Given the description of an element on the screen output the (x, y) to click on. 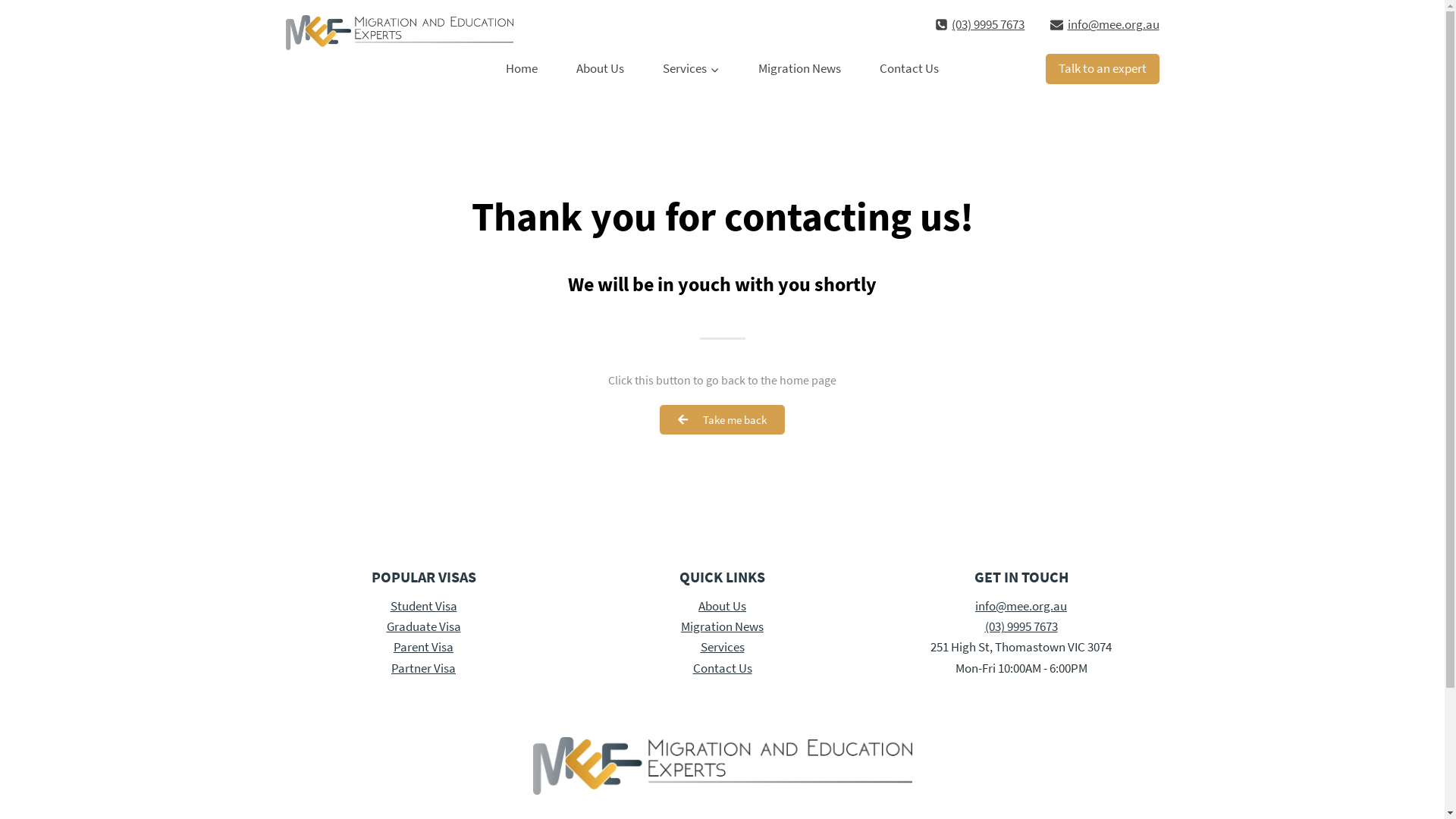
Migration News Element type: text (721, 626)
info@mee.org.au Element type: text (1104, 24)
About Us Element type: text (599, 68)
Migration News Element type: text (798, 68)
(03) 9995 7673 Element type: text (1020, 626)
Student Visa Element type: text (422, 605)
info@mee.org.au Element type: text (1020, 605)
Talk to an expert Element type: text (1101, 68)
About Us Element type: text (722, 605)
Contact Us Element type: text (722, 667)
Partner Visa Element type: text (423, 667)
Services Element type: text (690, 68)
Take me back Element type: text (721, 419)
Services Element type: text (722, 646)
Parent Visa Element type: text (423, 646)
(03) 9995 7673 Element type: text (979, 24)
Contact Us Element type: text (908, 68)
Home Element type: text (521, 68)
Graduate Visa Element type: text (423, 626)
